Given the description of an element on the screen output the (x, y) to click on. 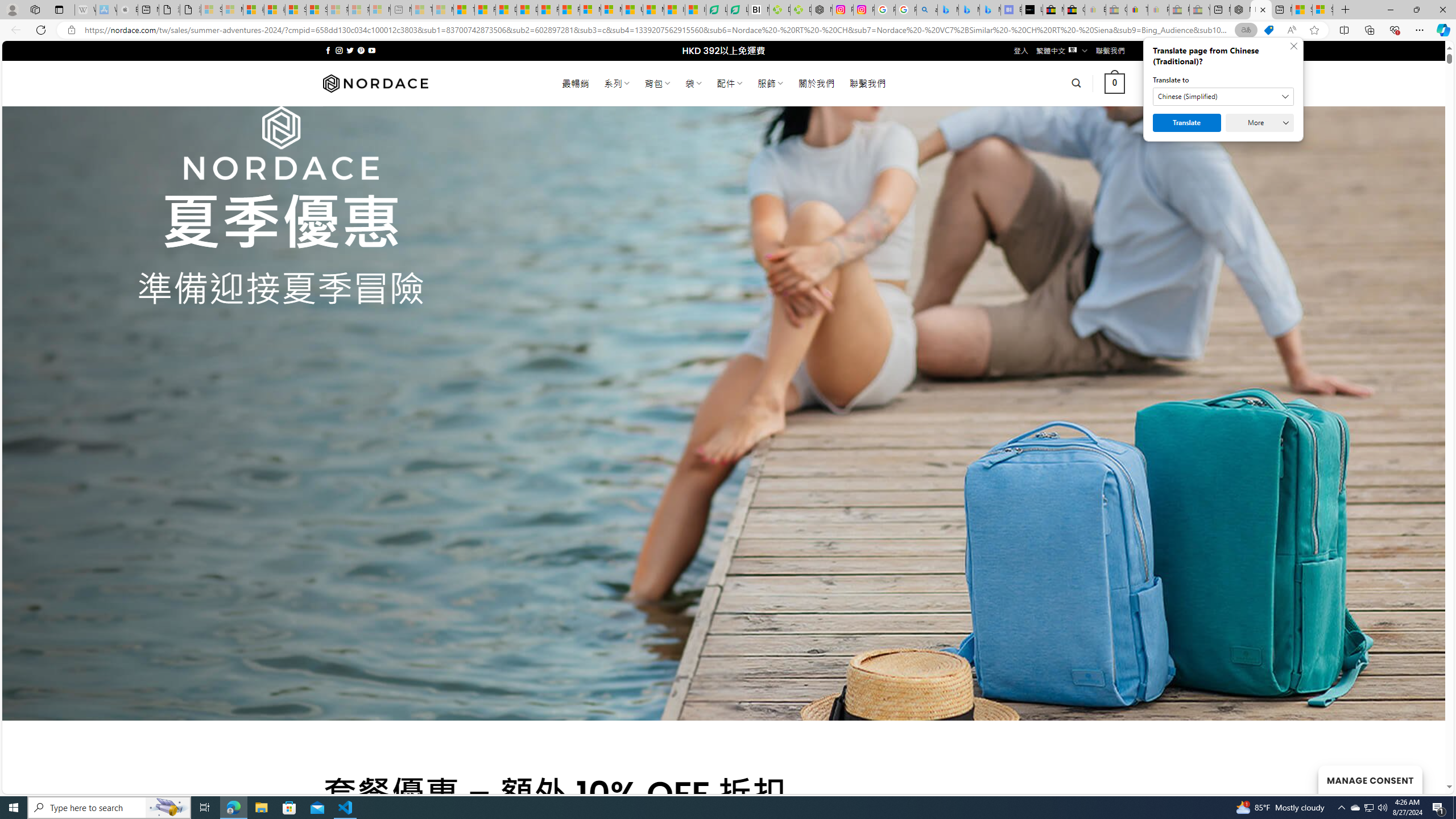
Foo BAR | Trusted Community Engagement and Contributions (569, 9)
